Given the description of an element on the screen output the (x, y) to click on. 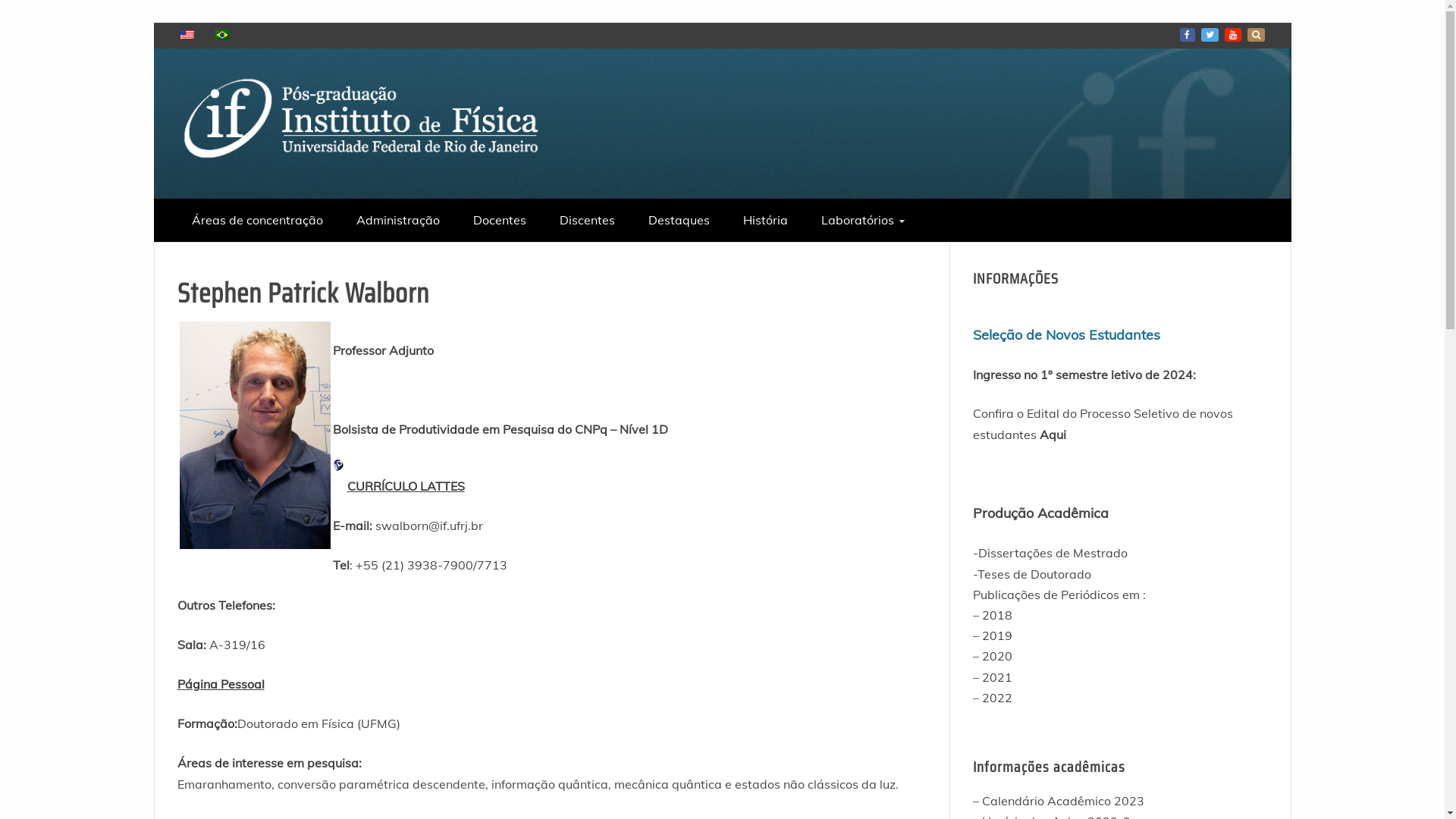
Stephen Patrick Walborn Element type: hover (253, 435)
Email Element type: text (1255, 34)
English Element type: hover (187, 34)
Aqui Element type: text (1052, 433)
-Teses de Doutorado Element type: text (1031, 573)
Docentes Element type: text (499, 219)
Twitter Element type: text (1209, 34)
Youtube Element type: text (1231, 34)
Destaques Element type: text (678, 219)
Facebook Element type: text (1187, 34)
Skip to content Element type: text (153, 21)
Discentes Element type: text (587, 219)
